Given the description of an element on the screen output the (x, y) to click on. 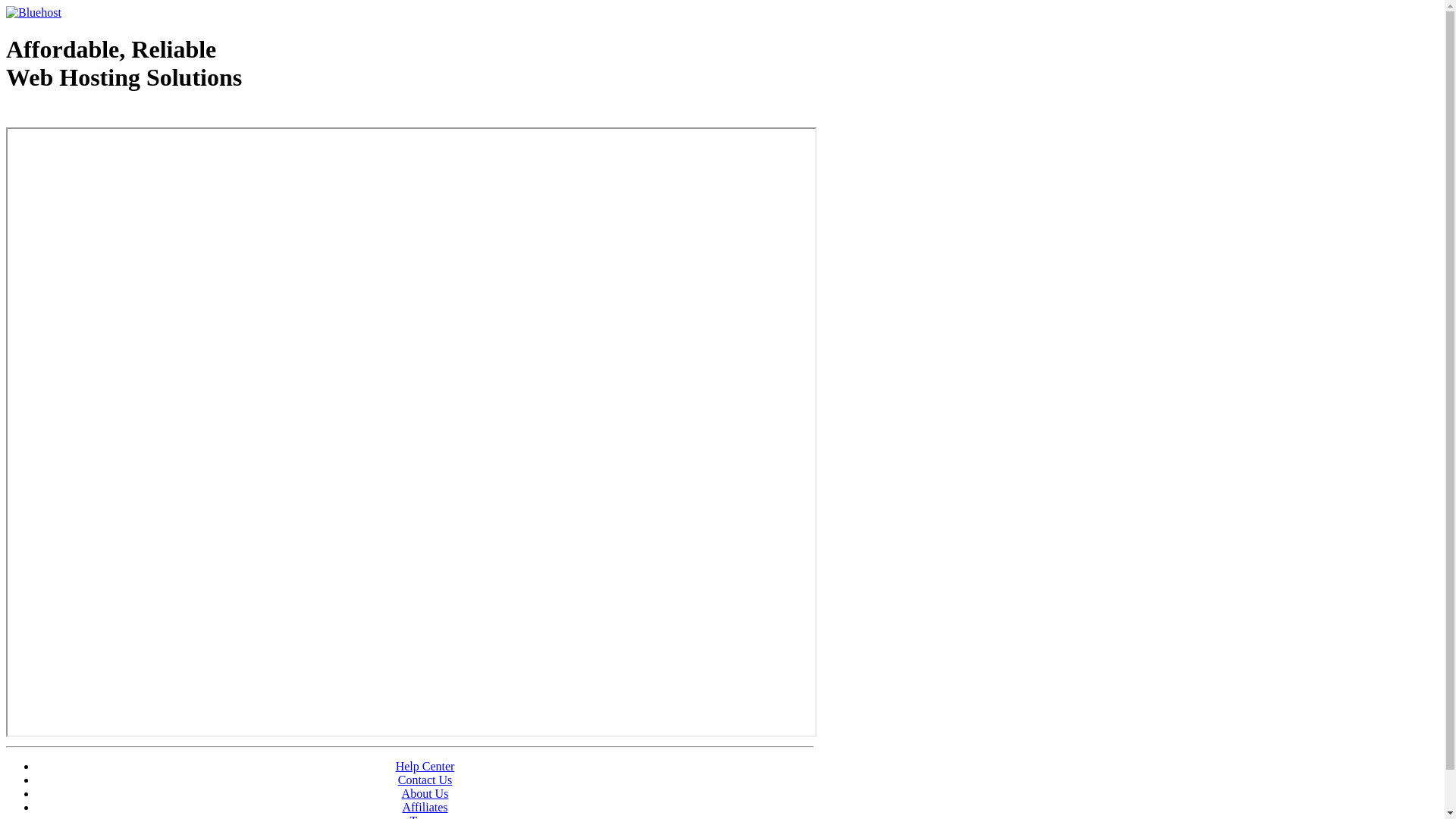
Web Hosting - courtesy of www.bluehost.com Element type: text (94, 115)
Contact Us Element type: text (425, 779)
Help Center Element type: text (425, 765)
Affiliates Element type: text (424, 806)
About Us Element type: text (424, 793)
